Given the description of an element on the screen output the (x, y) to click on. 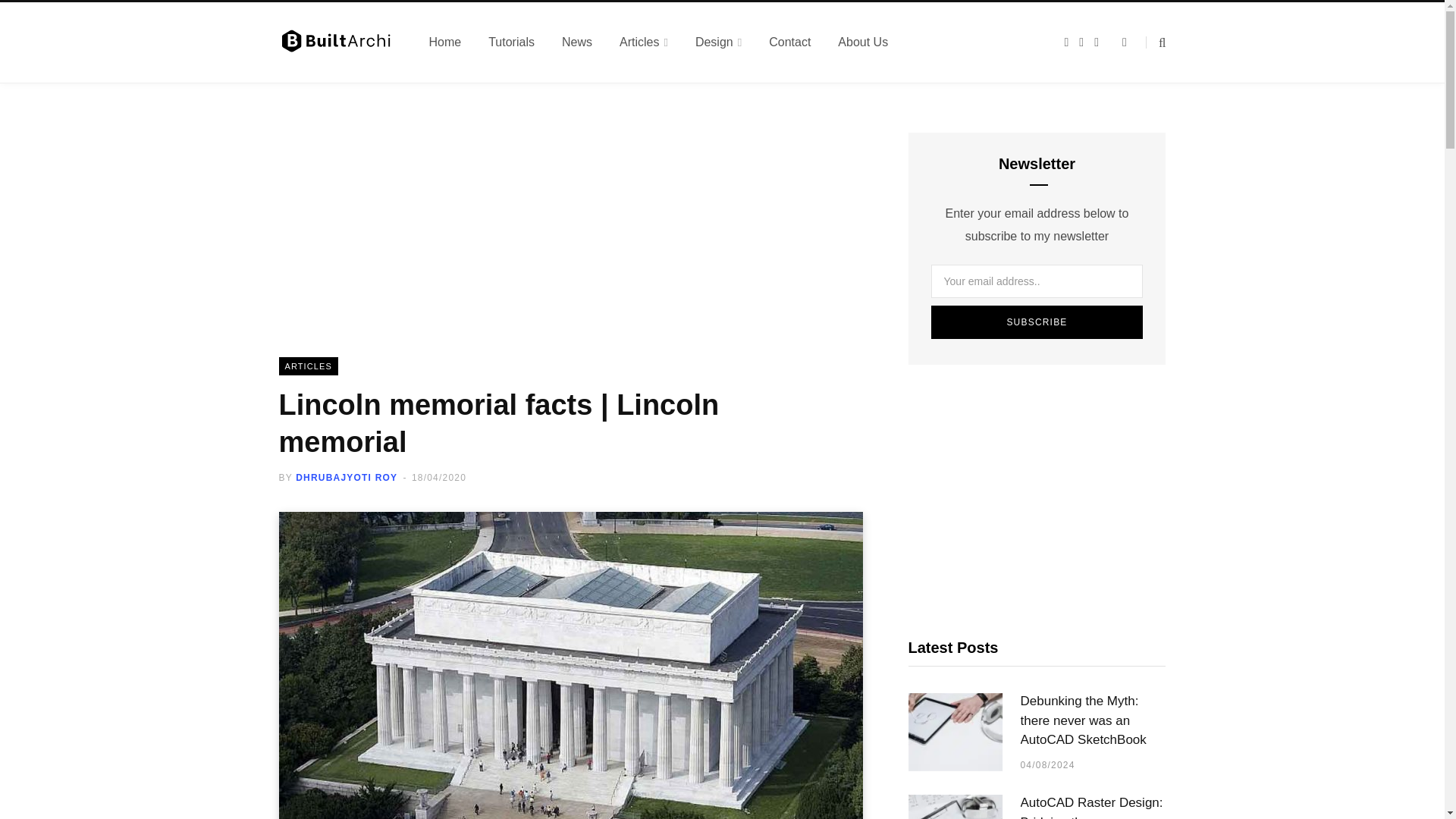
Home (445, 41)
Built Archi (336, 42)
Tutorials (511, 41)
News (576, 41)
Design (718, 41)
Articles (643, 41)
Subscribe (1036, 322)
